Given the description of an element on the screen output the (x, y) to click on. 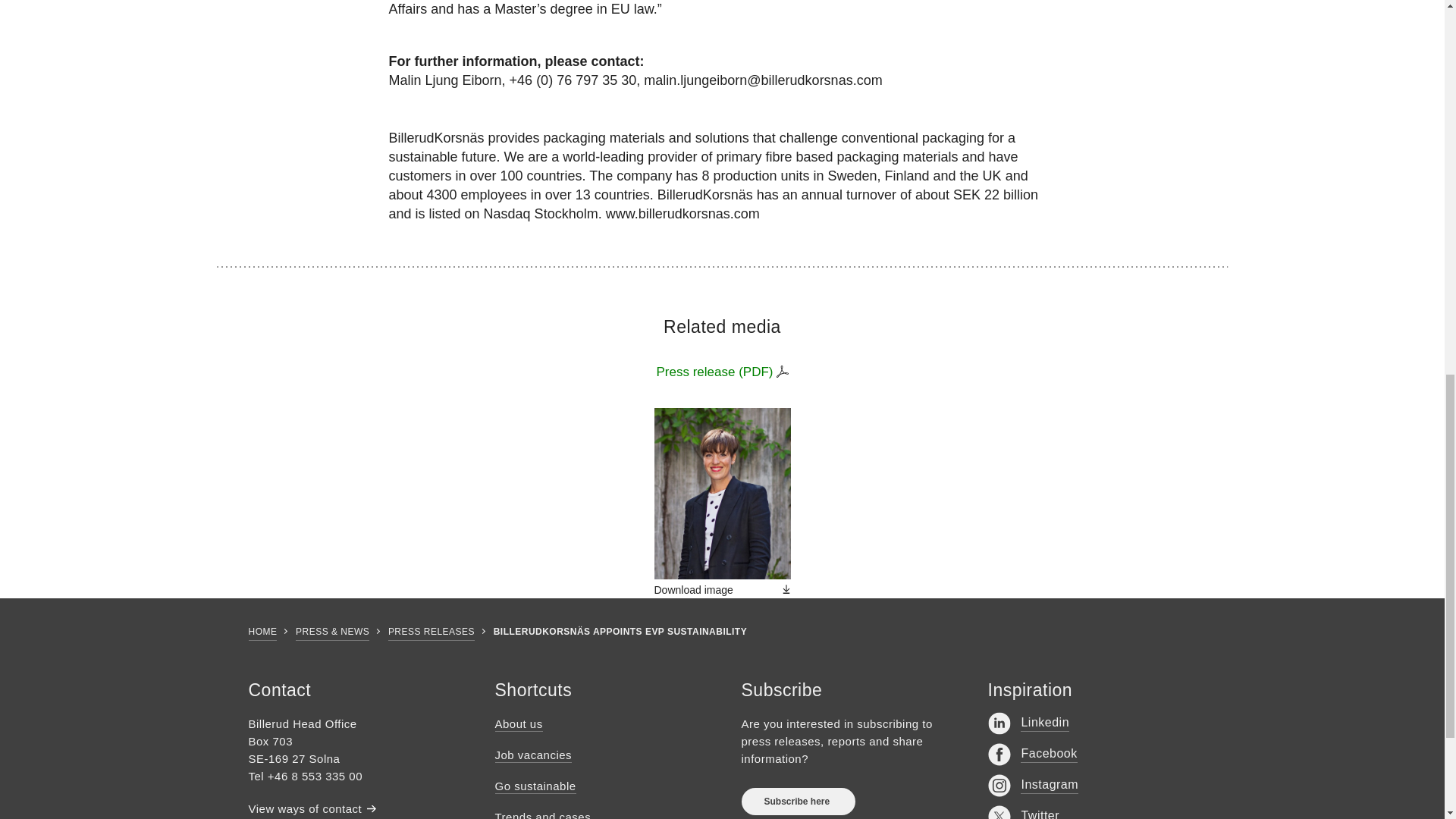
Facebook (1032, 753)
Twitter (1023, 812)
Contact (305, 808)
Instagram (1032, 784)
Linkedin (1027, 722)
